Given the description of an element on the screen output the (x, y) to click on. 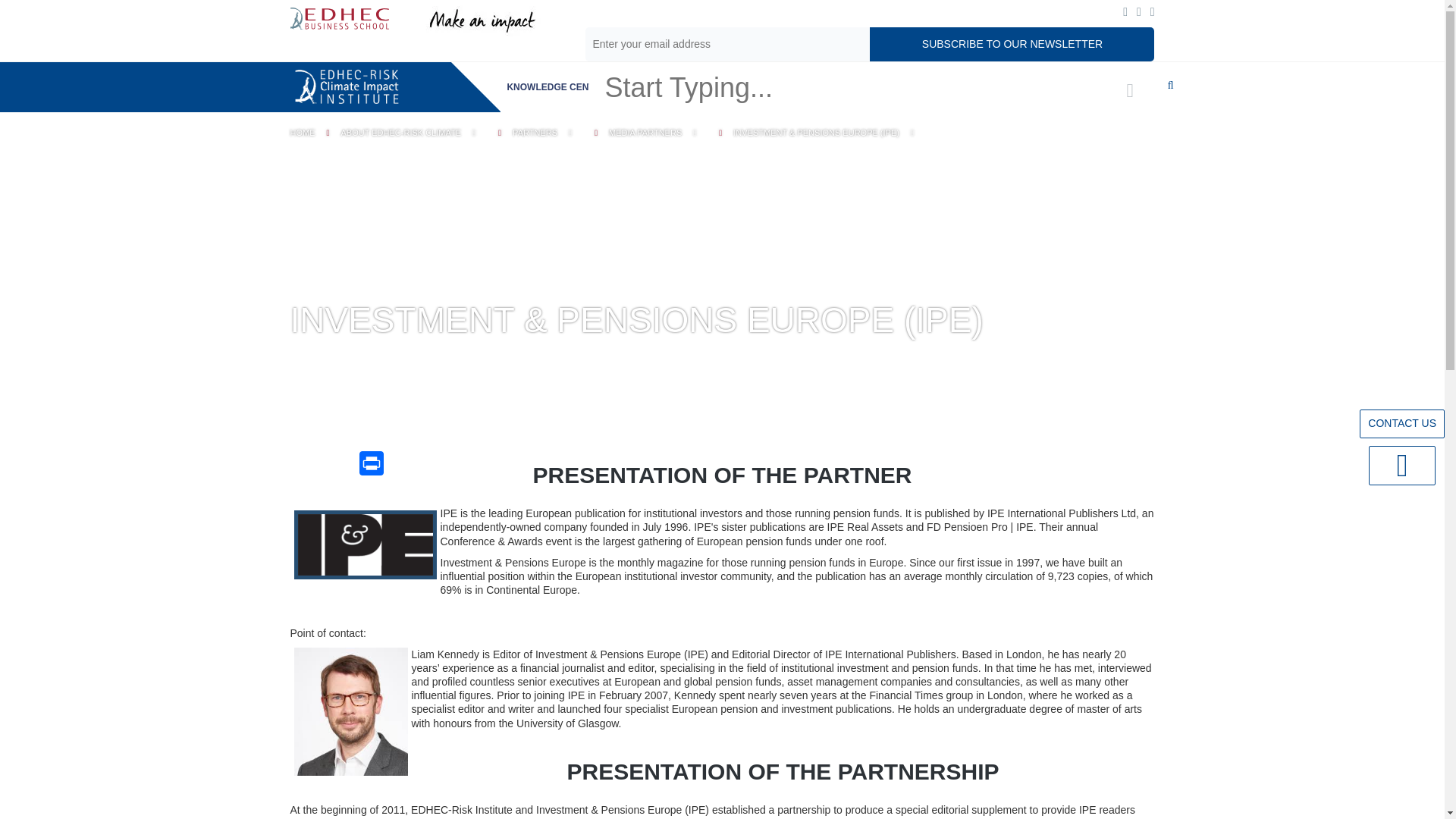
Subscribe to our newsletter (1011, 44)
home (346, 85)
Enter the terms you wish to search for. (841, 87)
OUTREACH (841, 86)
Search (634, 76)
Search (634, 76)
Subscribe to our newsletter (1011, 44)
Display a printer-friendly version of this page. (340, 430)
printer-friendly version (371, 463)
